Given the description of an element on the screen output the (x, y) to click on. 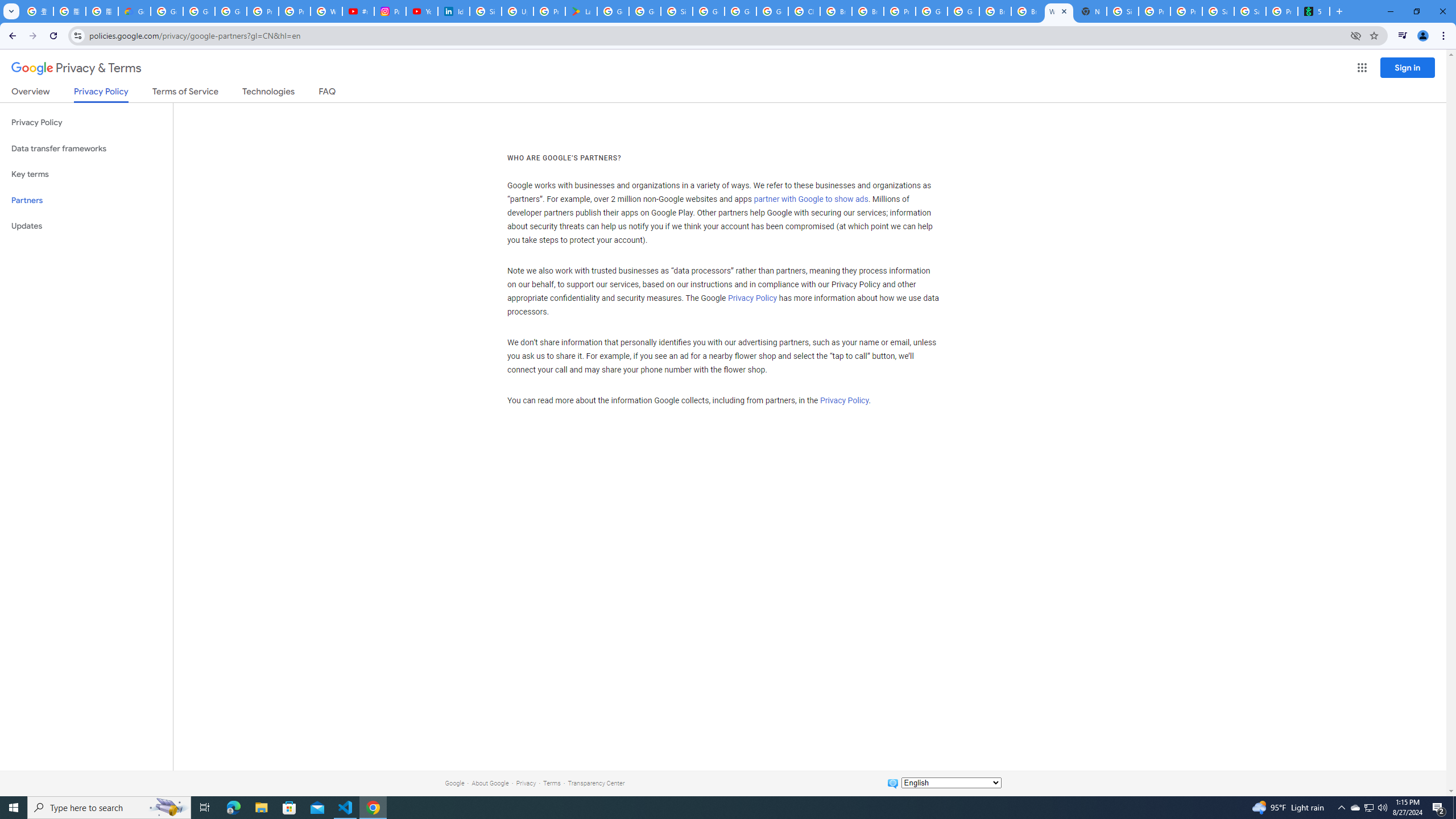
partner with Google to show ads (810, 199)
Key terms (86, 174)
Address and search bar (715, 35)
Updates (86, 225)
